Given the description of an element on the screen output the (x, y) to click on. 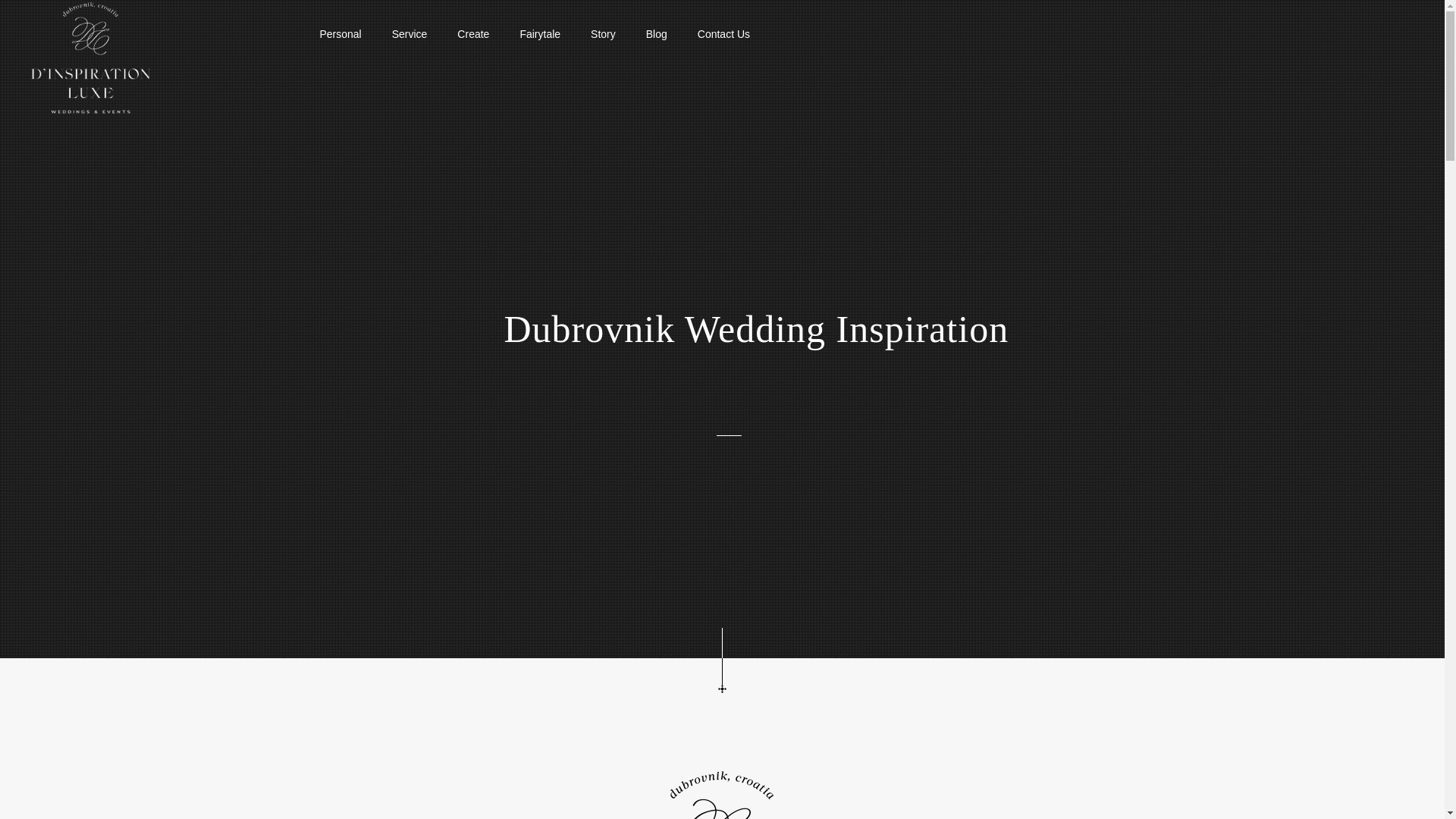
d'inspiration-luxe-logo-black (721, 794)
Contact Us (723, 33)
Fairytale (539, 33)
Dubrovnik Weddings (90, 56)
Personal (339, 33)
Service (409, 33)
Create (472, 33)
